Given the description of an element on the screen output the (x, y) to click on. 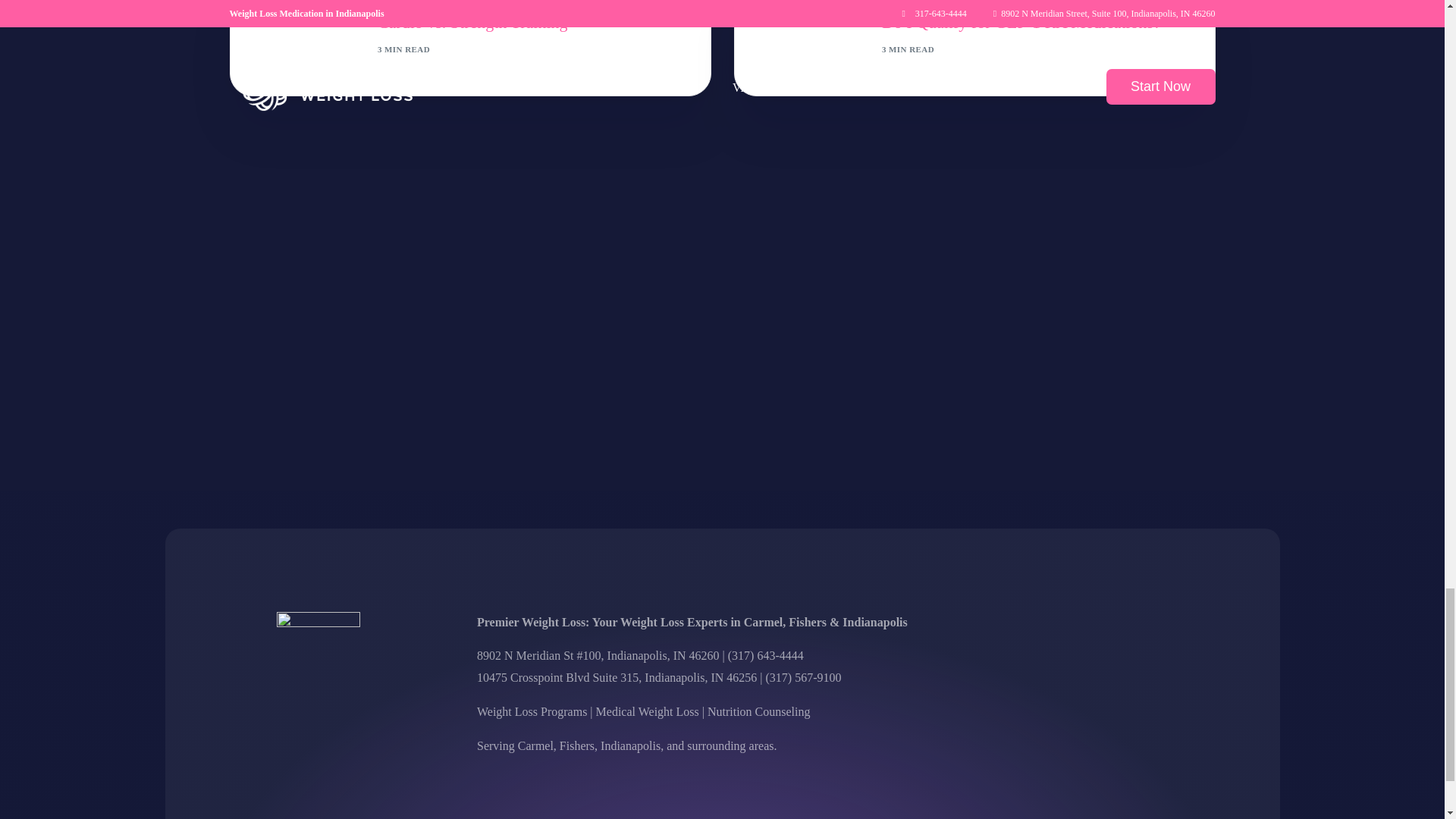
View Post: Do I Qualify for GLP-1 RA Medications?  (1036, 22)
 View Post: Do I Qualify for GLP-1 RA Medications? (795, 47)
 View Post: Cardio vs. Strength Training (291, 47)
View Post: Cardio vs. Strength Training  (531, 22)
